Given the description of an element on the screen output the (x, y) to click on. 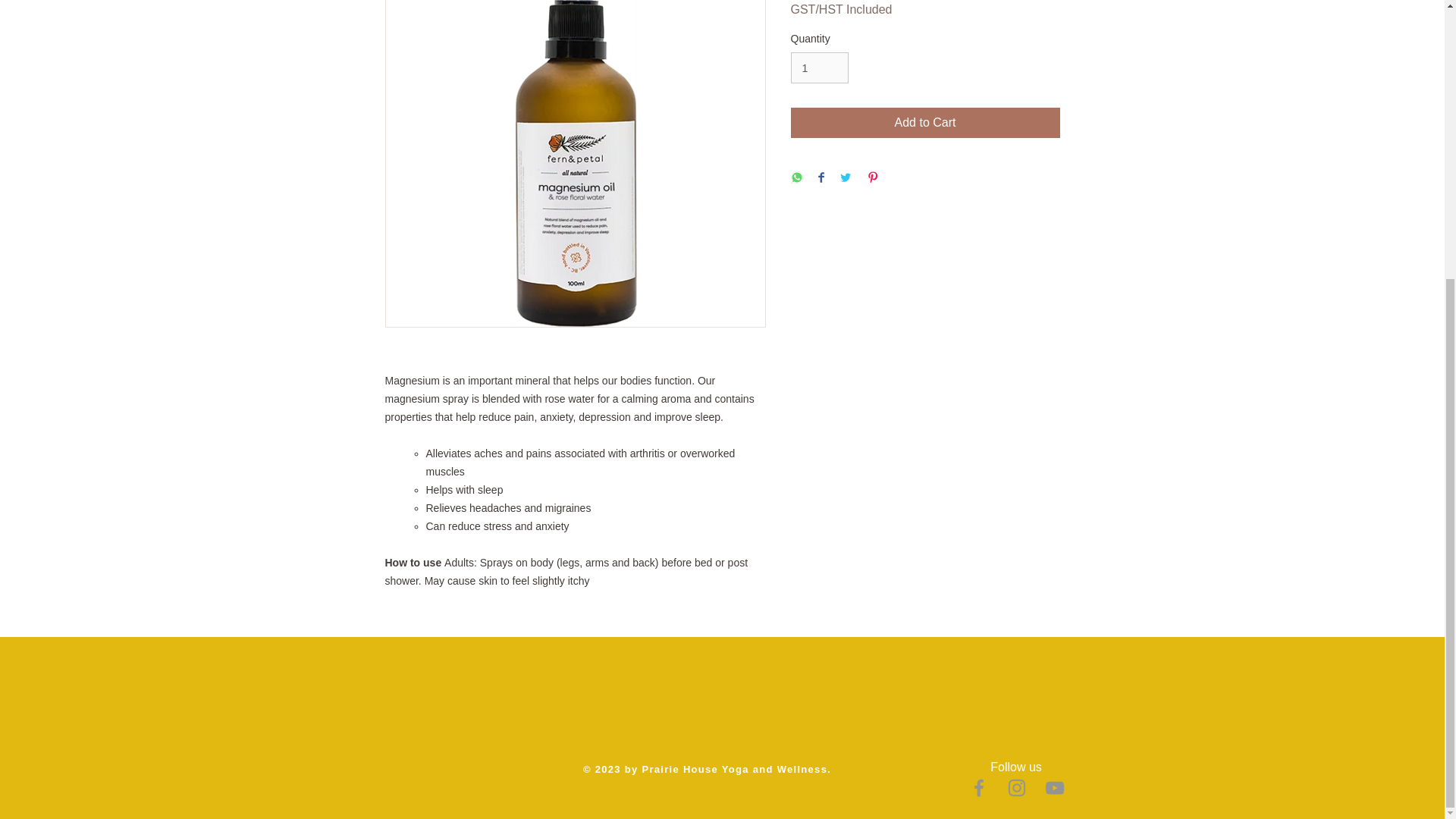
Add to Cart (924, 122)
1 (818, 67)
